Given the description of an element on the screen output the (x, y) to click on. 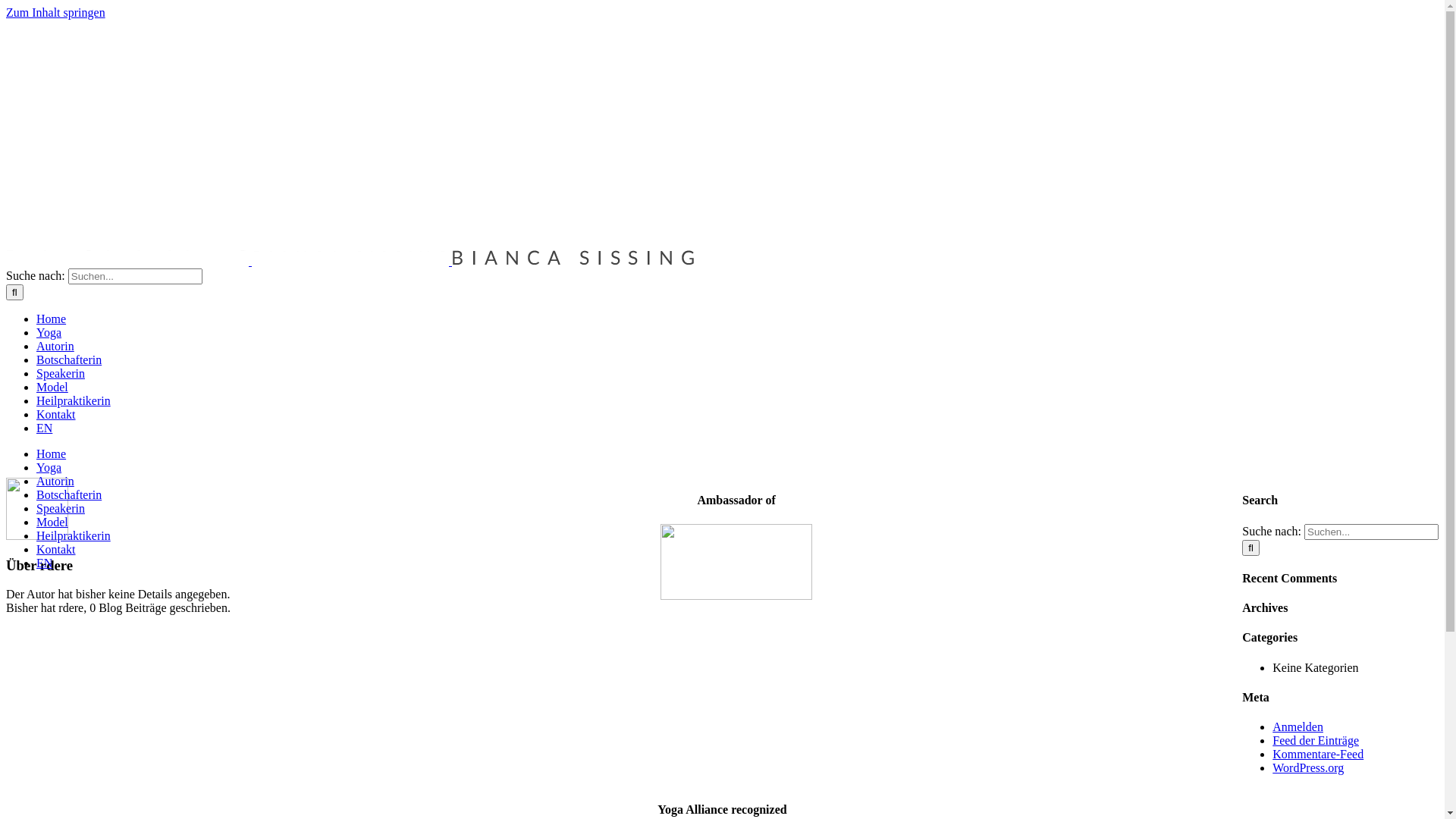
Anmelden Element type: text (1297, 726)
Kontakt Element type: text (55, 548)
Home Element type: text (50, 318)
Heilpraktikerin Element type: text (73, 400)
Model Element type: text (52, 521)
Botschafterin Element type: text (68, 359)
Speakerin Element type: text (60, 508)
Heilpraktikerin Element type: text (73, 535)
Kontakt Element type: text (55, 413)
Yoga Element type: text (48, 332)
Autorin Element type: text (55, 480)
Speakerin Element type: text (60, 373)
Kommentare-Feed Element type: text (1317, 753)
Yoga Element type: text (48, 467)
Botschafterin Element type: text (68, 494)
Model Element type: text (52, 386)
EN Element type: text (44, 427)
Home Element type: text (50, 453)
WordPress.org Element type: text (1307, 767)
EN Element type: text (44, 562)
Zum Inhalt springen Element type: text (55, 12)
Autorin Element type: text (55, 345)
